Given the description of an element on the screen output the (x, y) to click on. 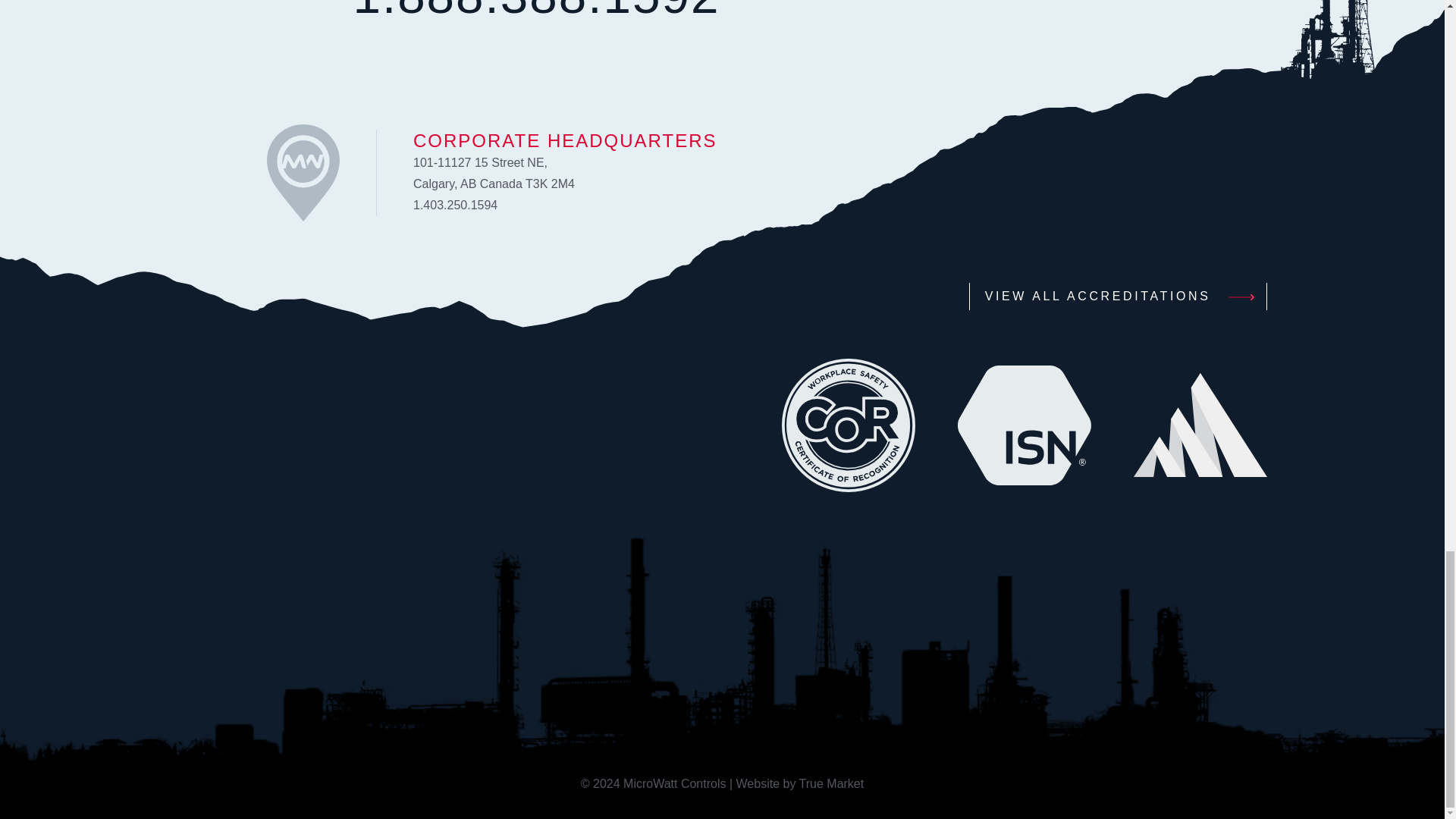
VIEW ALL ACCREDITATIONS (1118, 296)
Twitter (293, 425)
Facebook (486, 425)
LinkedIn (195, 425)
True Market (831, 783)
1.888.388.1592 (535, 11)
1.403.250.1594 (455, 205)
YouTube (389, 425)
